Given the description of an element on the screen output the (x, y) to click on. 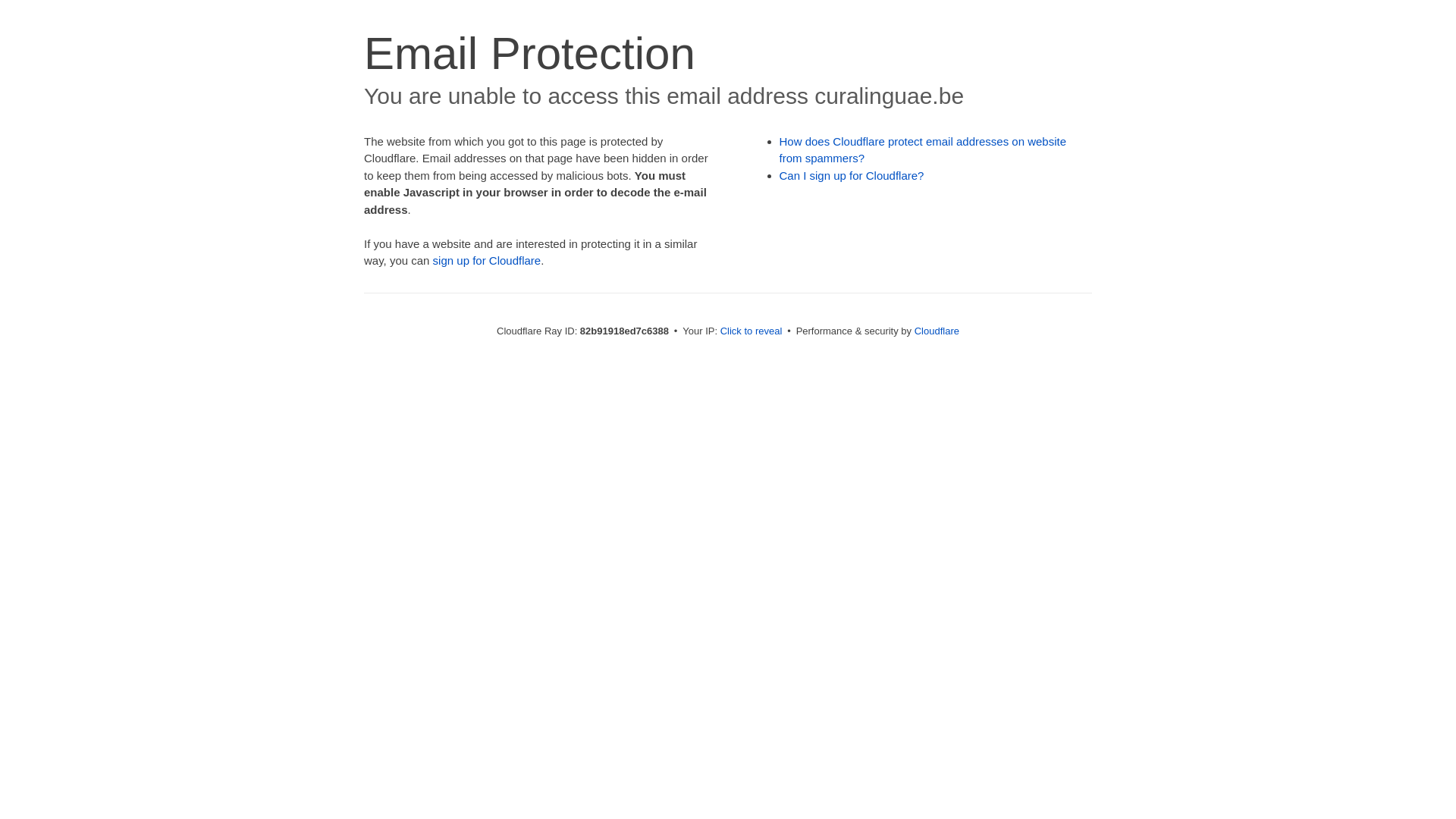
Click to reveal Element type: text (751, 330)
Cloudflare Element type: text (936, 330)
Can I sign up for Cloudflare? Element type: text (851, 175)
sign up for Cloudflare Element type: text (487, 260)
